Given the description of an element on the screen output the (x, y) to click on. 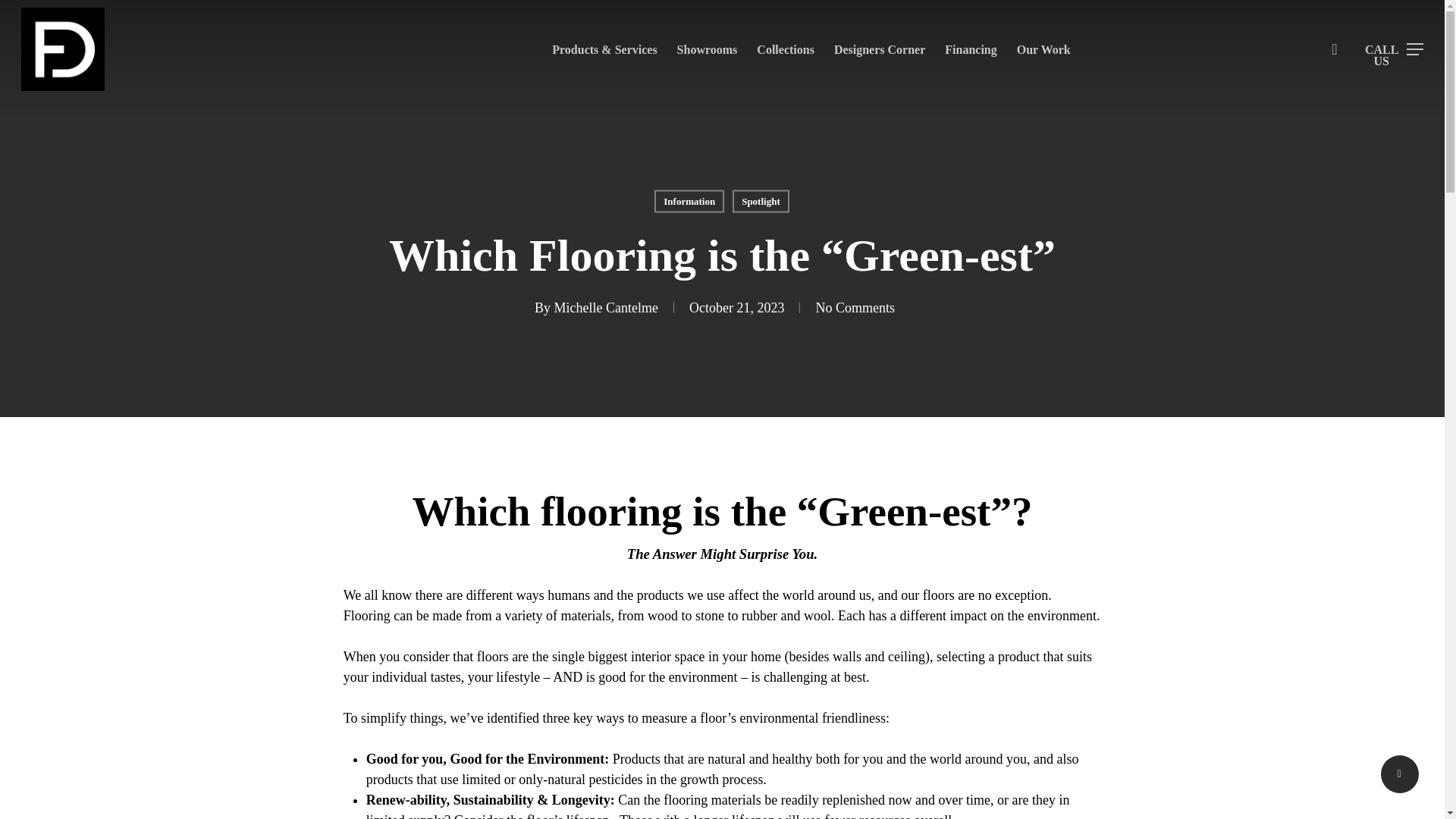
Family of Boutique-style Flooring and Interiors Showrooms (707, 49)
Spotlight (760, 200)
Collections (785, 49)
search (1333, 48)
Showrooms (707, 49)
Information (688, 200)
Posts by Michelle Cantelme (606, 307)
Designers Corner (879, 49)
Our Work (1043, 49)
Financing (969, 49)
